Given the description of an element on the screen output the (x, y) to click on. 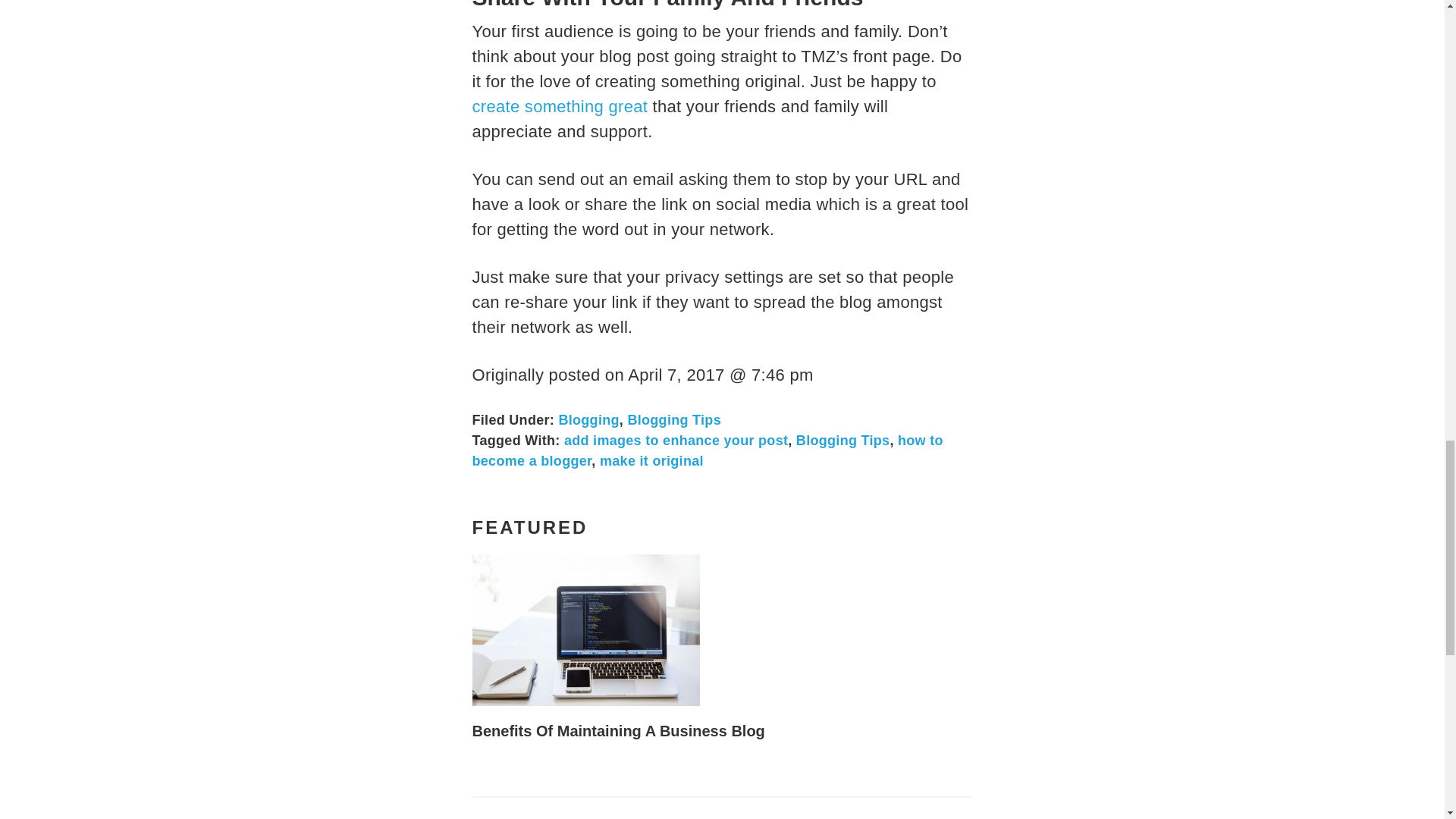
how to become a blogger (706, 450)
Blogging Tips (673, 419)
make it original (651, 460)
Blogging (587, 419)
Benefits Of Maintaining A Business Blog (617, 730)
add images to enhance your post (675, 440)
Blogging Tips (842, 440)
create something great (559, 106)
